Given the description of an element on the screen output the (x, y) to click on. 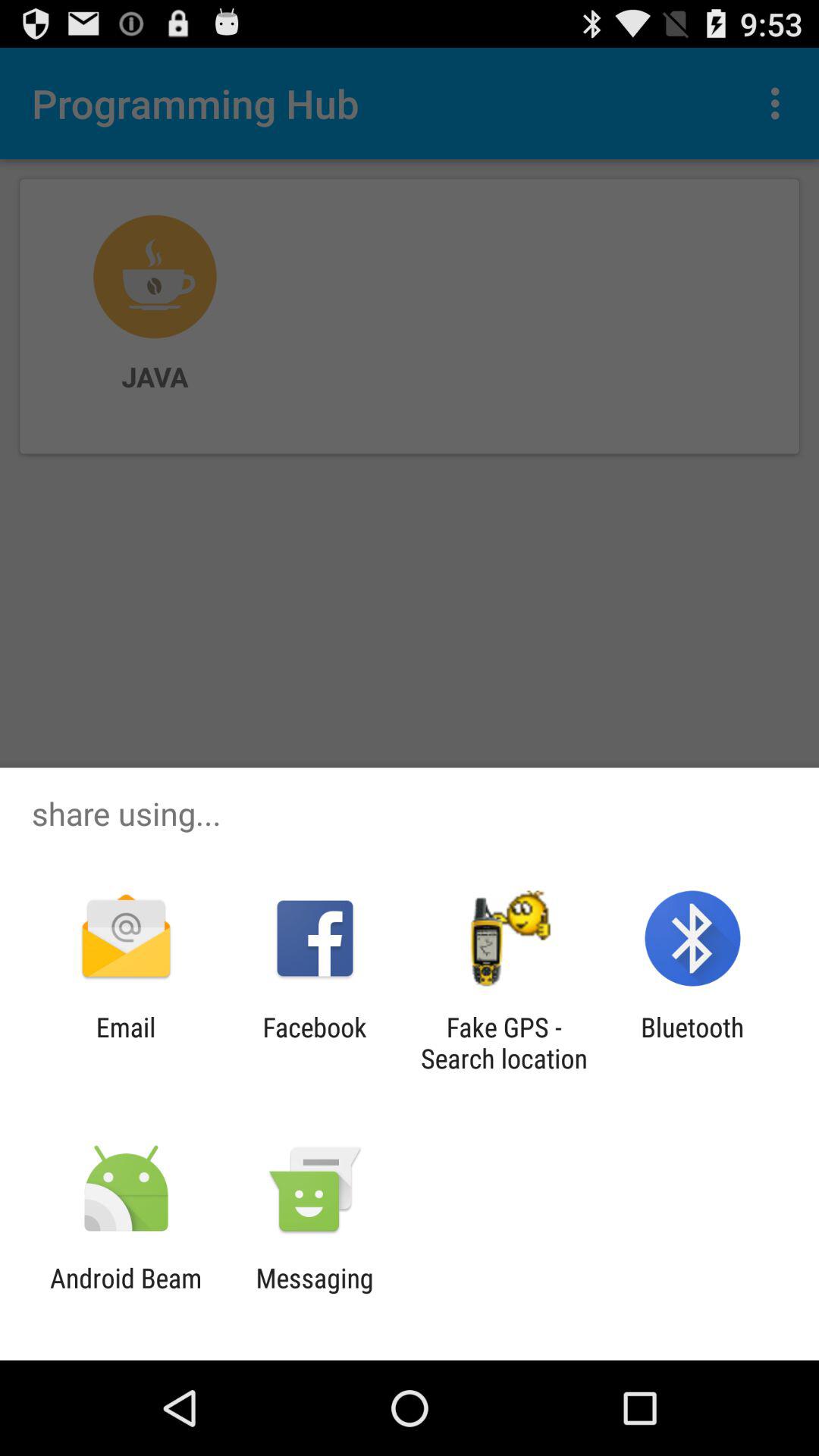
tap fake gps search app (503, 1042)
